Given the description of an element on the screen output the (x, y) to click on. 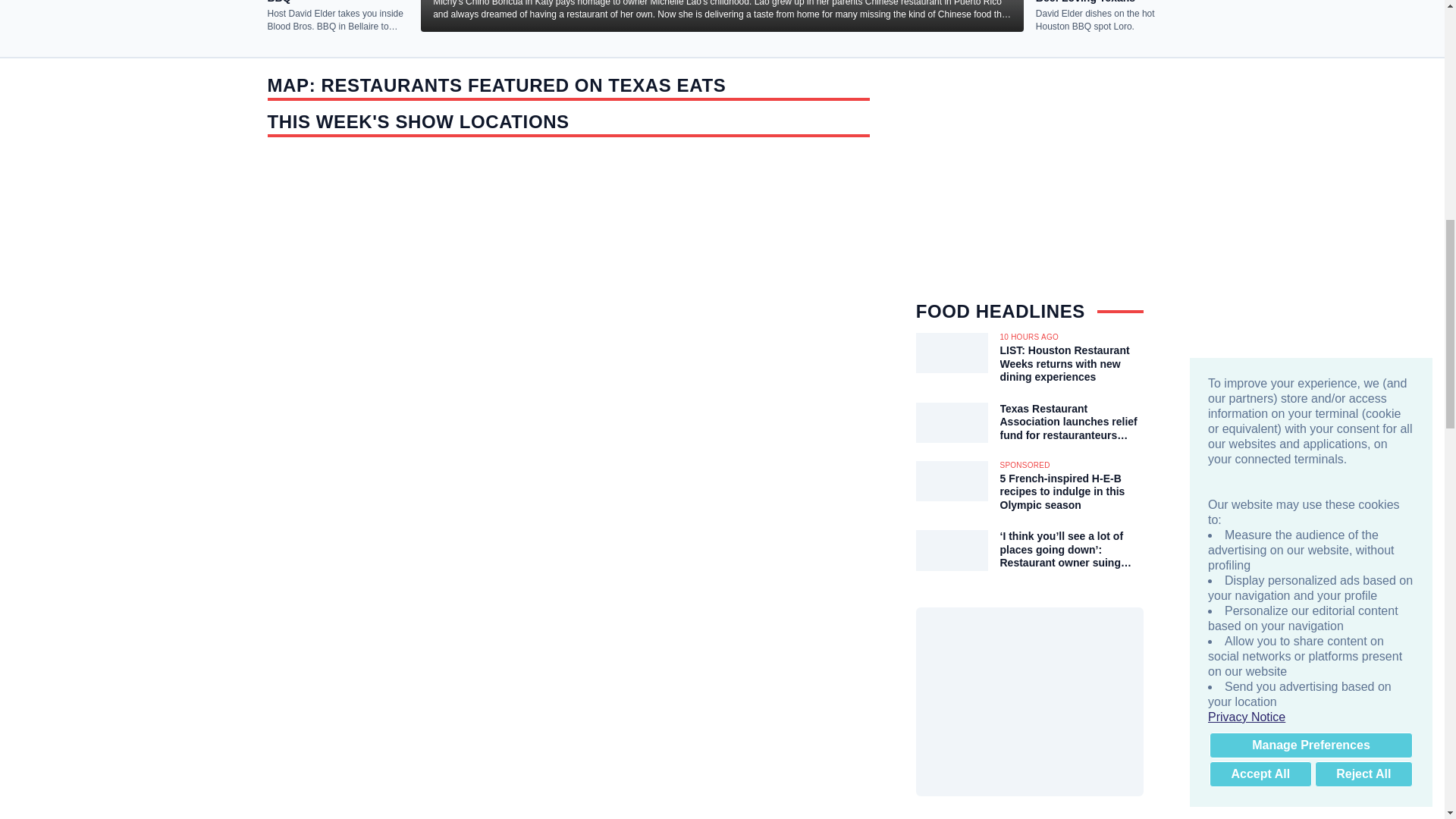
David Elder dishes on the hot Houston BBQ spot Loro.  (1106, 19)
Texas Eats: Blood Bros. BBQ (337, 2)
